Given the description of an element on the screen output the (x, y) to click on. 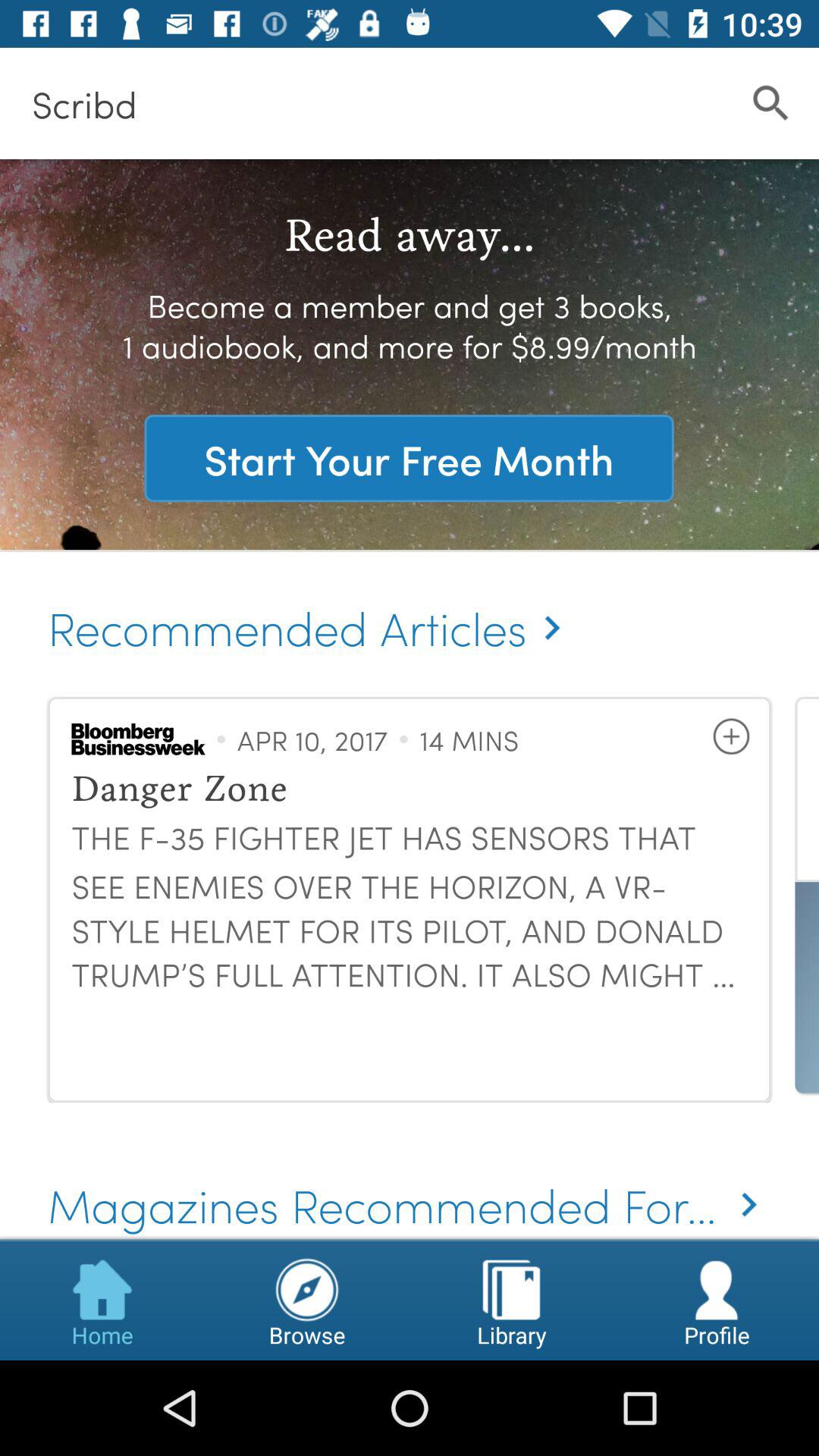
launch start your free (408, 458)
